Given the description of an element on the screen output the (x, y) to click on. 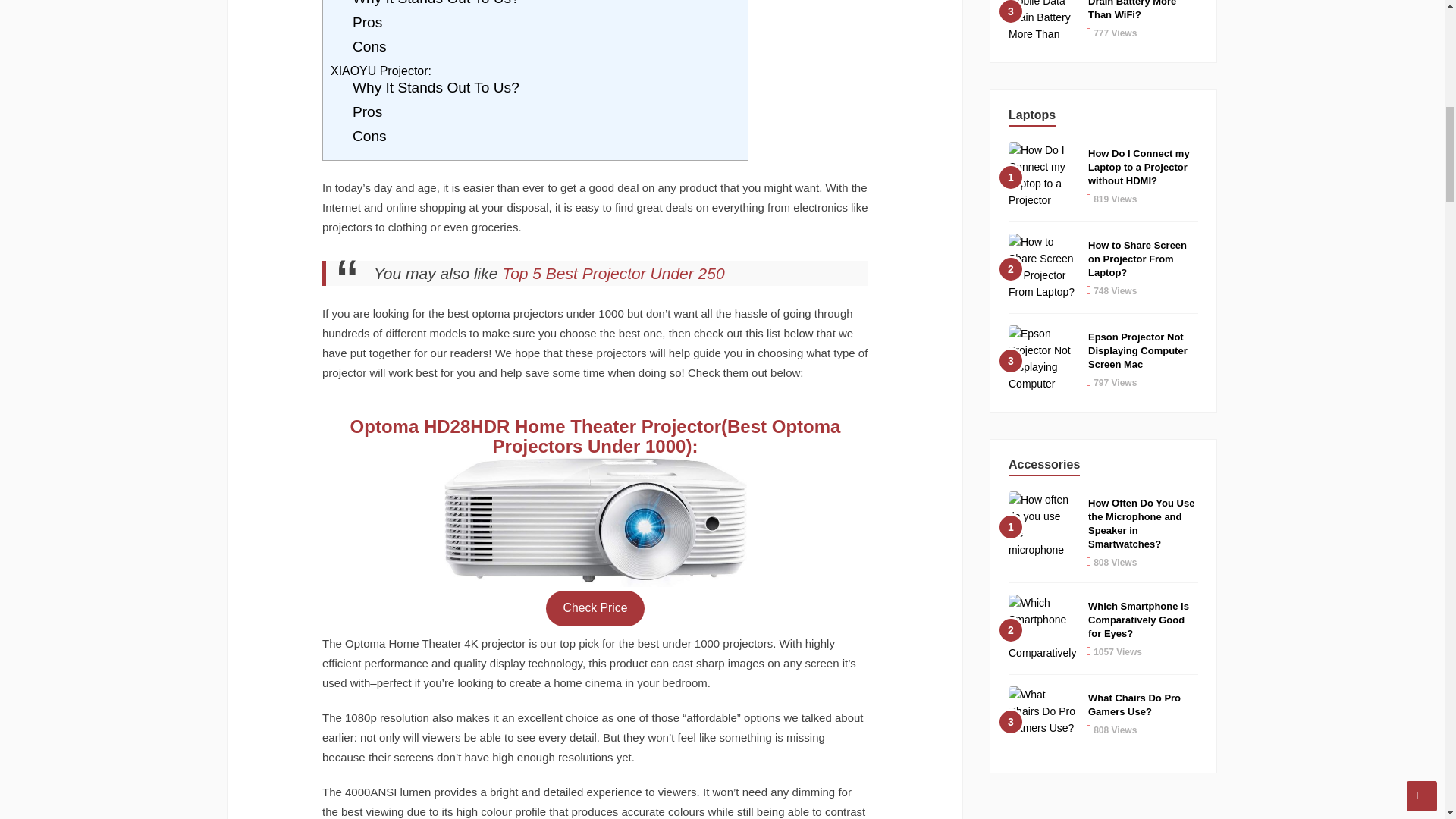
Top 5 Best Projector Under 250 (612, 272)
Why It Stands Out To Us? (435, 87)
Cons (369, 135)
Check Price (595, 608)
Pros (366, 111)
Pros (366, 22)
Cons (369, 46)
XIAOYU Projector: (380, 70)
Why It Stands Out To Us? (435, 2)
